Given the description of an element on the screen output the (x, y) to click on. 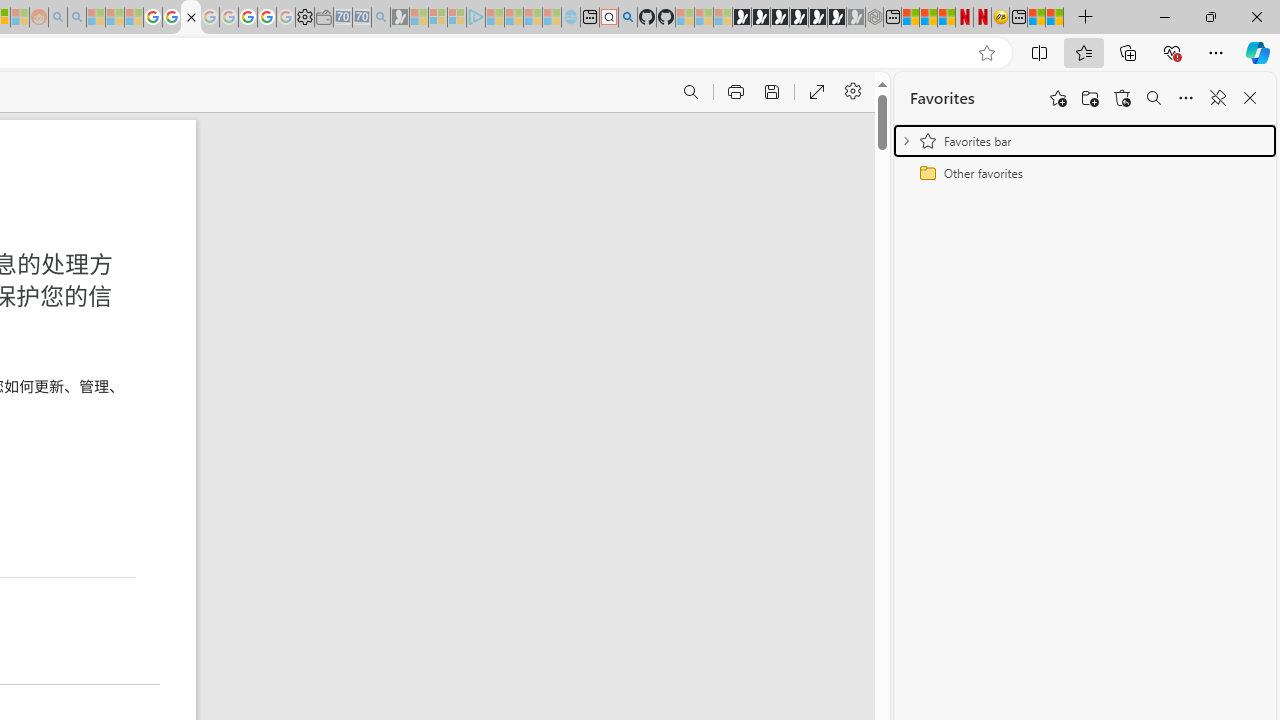
Close favorites (1250, 98)
Enter PDF full screen (815, 92)
